Given the description of an element on the screen output the (x, y) to click on. 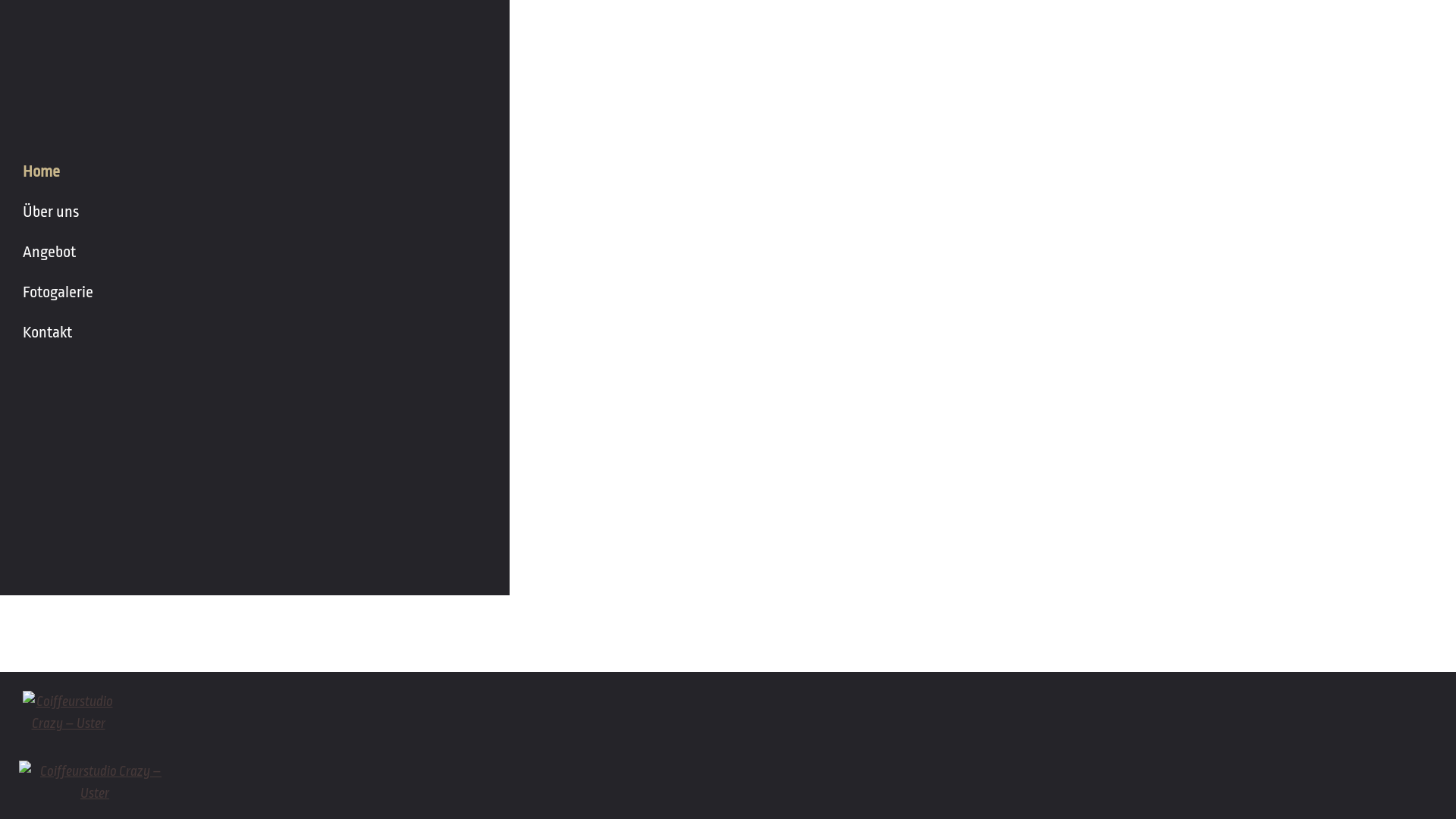
Angebot Element type: text (254, 252)
Fotogalerie Element type: text (254, 292)
Home Element type: text (254, 171)
Kontakt Element type: text (254, 332)
